Given the description of an element on the screen output the (x, y) to click on. 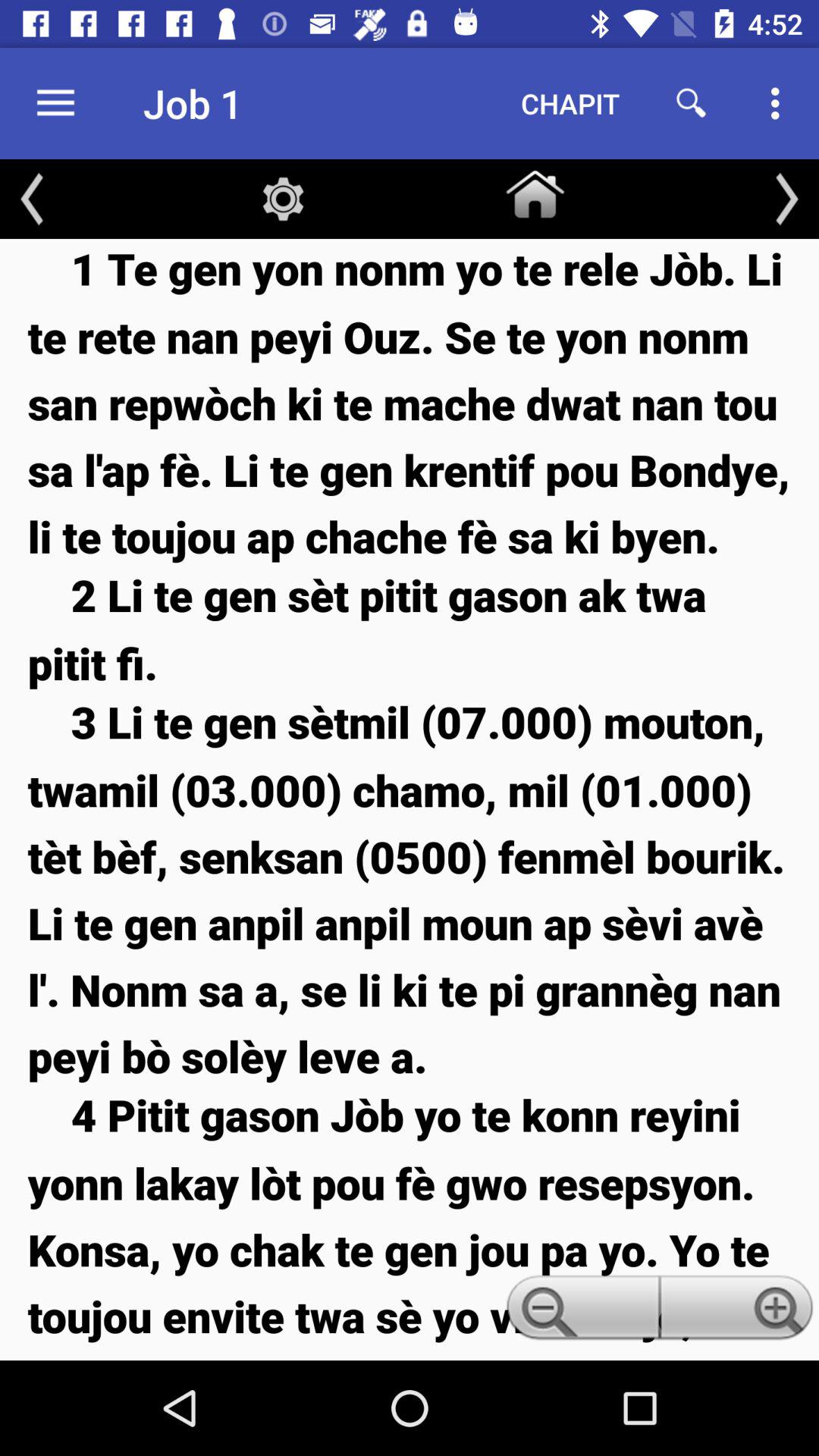
turn off icon below 3 li te icon (579, 1311)
